Given the description of an element on the screen output the (x, y) to click on. 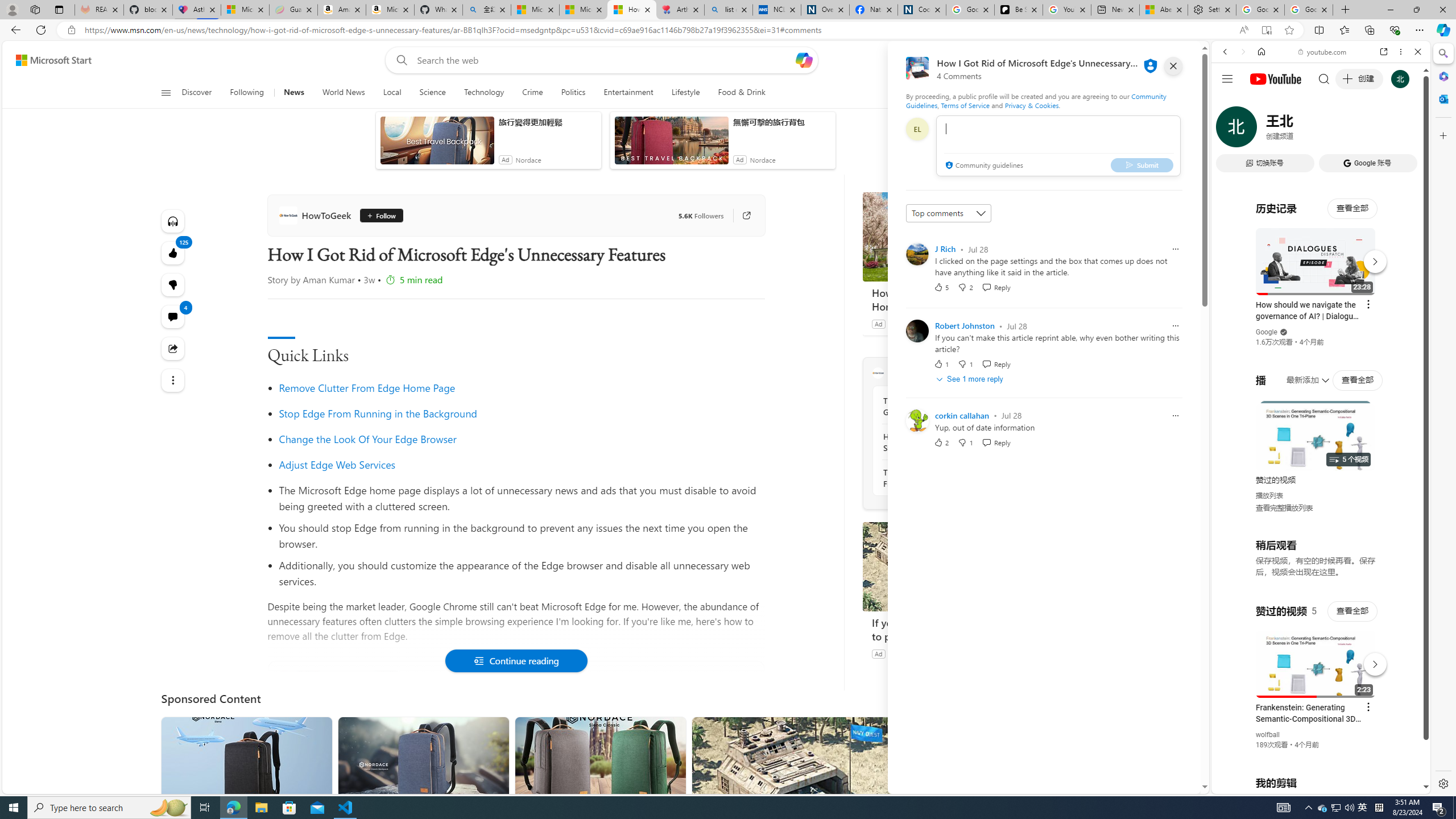
News (293, 92)
Report comment (1175, 414)
Settings (1442, 783)
HowToGeek (877, 372)
Science (432, 92)
Search the web (1326, 78)
Technology (483, 92)
Sort comments by (948, 212)
Open navigation menu (164, 92)
Open settings (1175, 60)
